Given the description of an element on the screen output the (x, y) to click on. 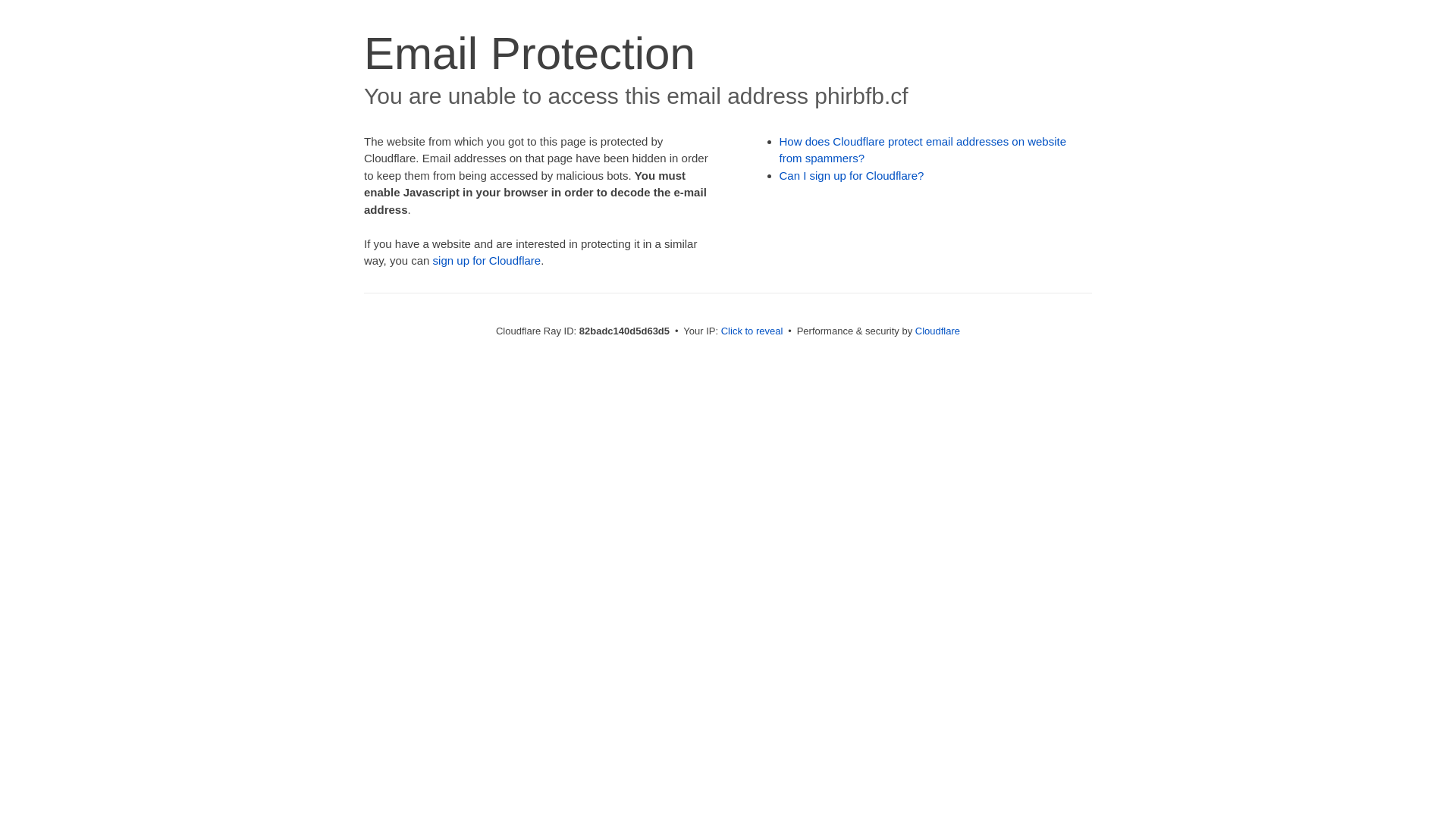
sign up for Cloudflare Element type: text (487, 260)
Cloudflare Element type: text (937, 330)
Click to reveal Element type: text (752, 330)
Can I sign up for Cloudflare? Element type: text (851, 175)
